Given the description of an element on the screen output the (x, y) to click on. 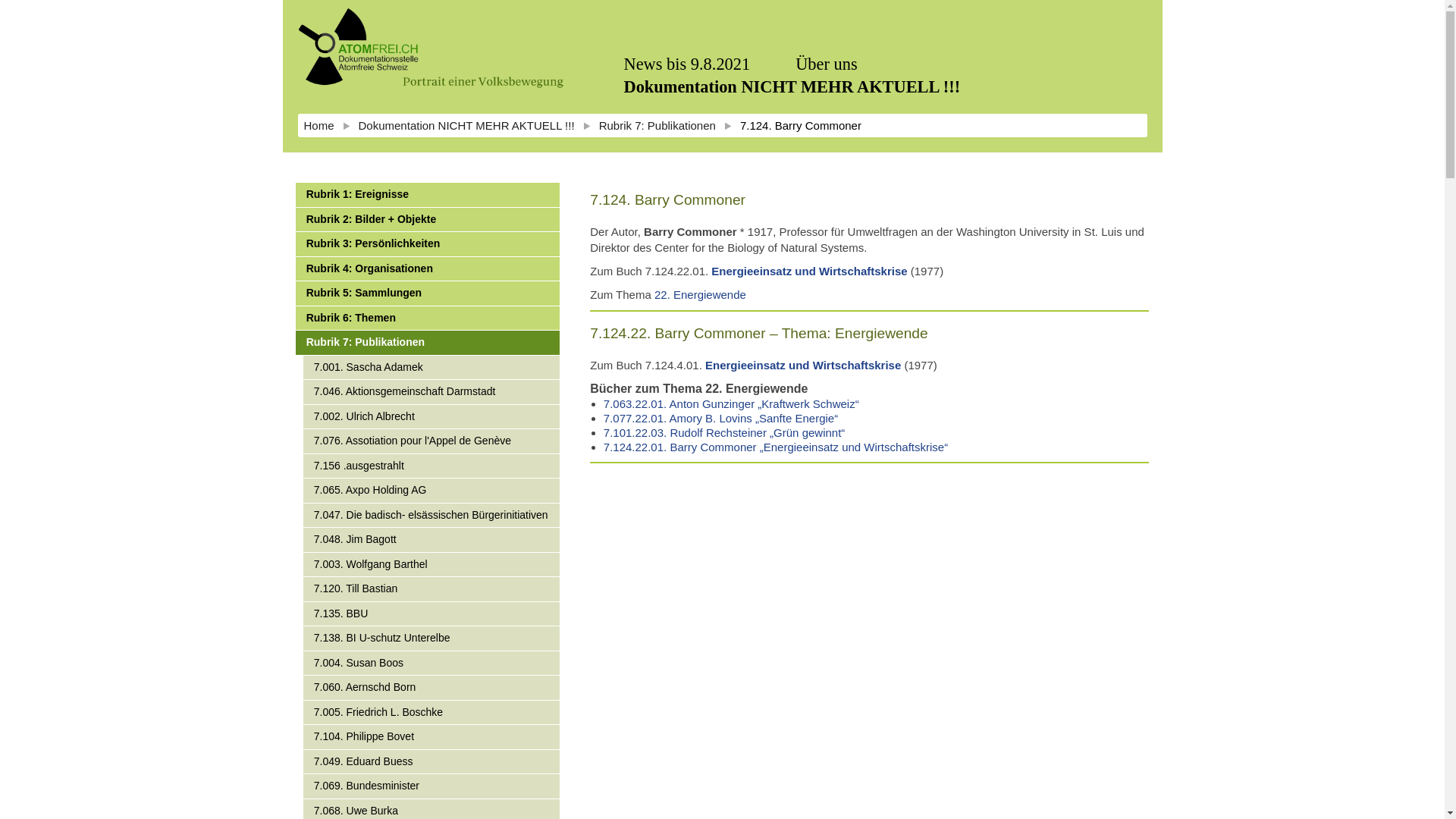
Rubrik 6: Themen Element type: text (427, 318)
7.104. Philippe Bovet Element type: text (431, 736)
7.138. BI U-schutz Unterelbe Element type: text (431, 638)
Dokumentation NICHT MEHR AKTUELL !!! Element type: text (791, 86)
Rubrik 7: Publikationen Element type: text (427, 342)
7.003. Wolfgang Barthel Element type: text (431, 564)
7.048. Jim Bagott Element type: text (431, 539)
Dokumentation NICHT MEHR AKTUELL !!! Element type: text (466, 125)
Rubrik 7: Publikationen Element type: text (657, 125)
7.120. Till Bastian Element type: text (431, 589)
7.002. Ulrich Albrecht Element type: text (431, 416)
7.065. Axpo Holding AG Element type: text (431, 490)
Rubrik 4: Organisationen Element type: text (427, 268)
7.004. Susan Boos Element type: text (431, 662)
7.135. BBU Element type: text (431, 614)
7.046. Aktionsgemeinschaft Darmstadt Element type: text (431, 391)
7.060. Aernschd Born Element type: text (431, 687)
Energieeinsatz und Wirtschaftskrise Element type: text (808, 270)
22. Energiewende Element type: text (700, 294)
7.069. Bundesminister Element type: text (431, 786)
Rubrik 2: Bilder + Objekte Element type: text (427, 219)
Rubrik 1: Ereignisse Element type: text (427, 194)
Rubrik 5: Sammlungen Element type: text (427, 293)
7.005. Friedrich L. Boschke Element type: text (431, 712)
7.156 .ausgestrahlt Element type: text (431, 465)
News bis 9.8.2021 Element type: text (686, 64)
Energieeinsatz und Wirtschaftskrise Element type: text (802, 364)
7.001. Sascha Adamek Element type: text (431, 366)
7.049. Eduard Buess Element type: text (431, 761)
